Given the description of an element on the screen output the (x, y) to click on. 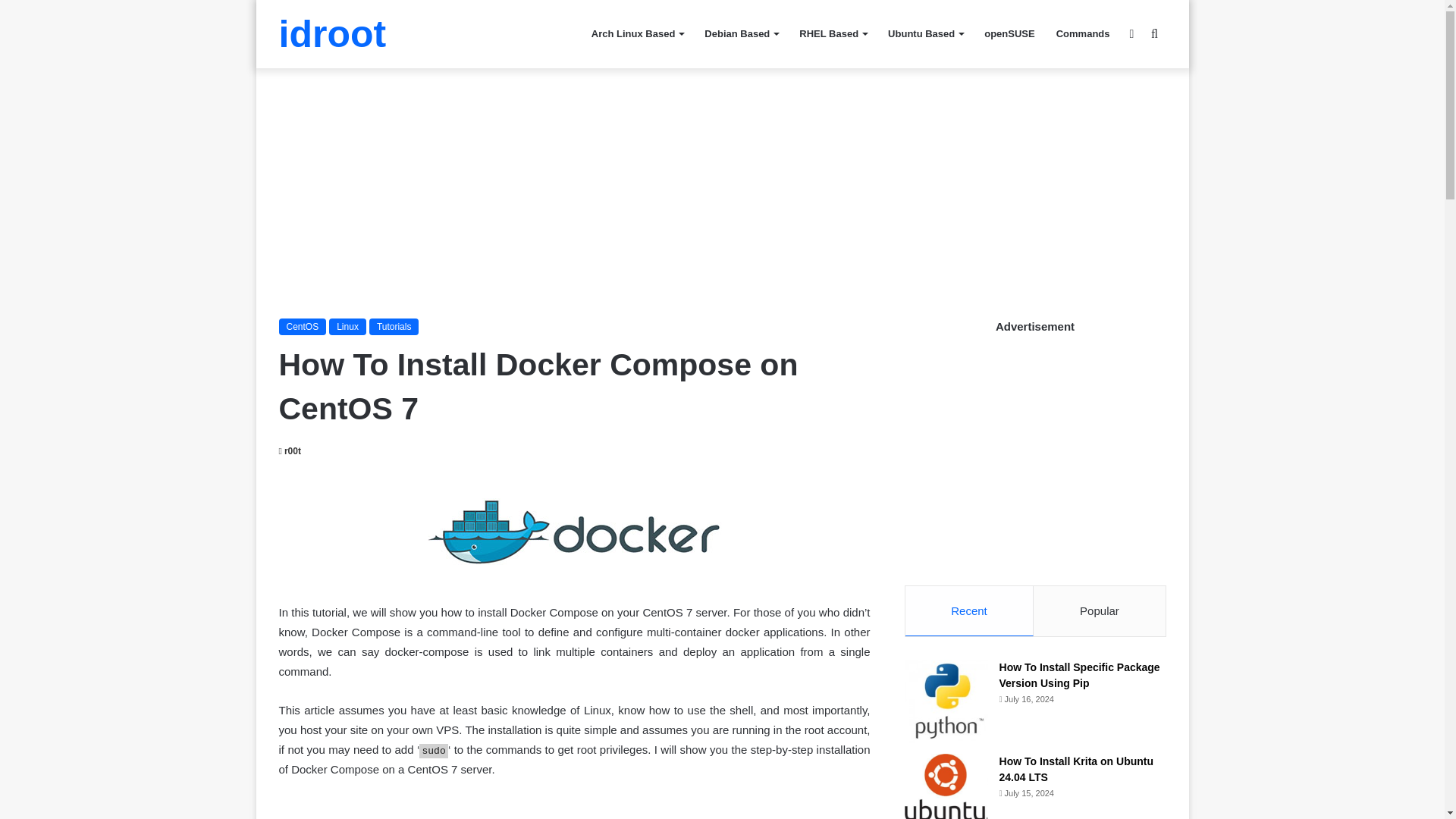
Linux (347, 326)
Advertisement (574, 808)
Recent (969, 611)
openSUSE (1009, 33)
Advertisement (1018, 447)
How To Install Specific Package Version Using Pip (1079, 674)
Arch Linux Based (637, 33)
Commands (1083, 33)
Popular (1098, 611)
Install Docker Compose on CentOS 7 (575, 531)
CentOS (302, 326)
Debian Based (741, 33)
Tutorials (394, 326)
idroot (333, 34)
